Given the description of an element on the screen output the (x, y) to click on. 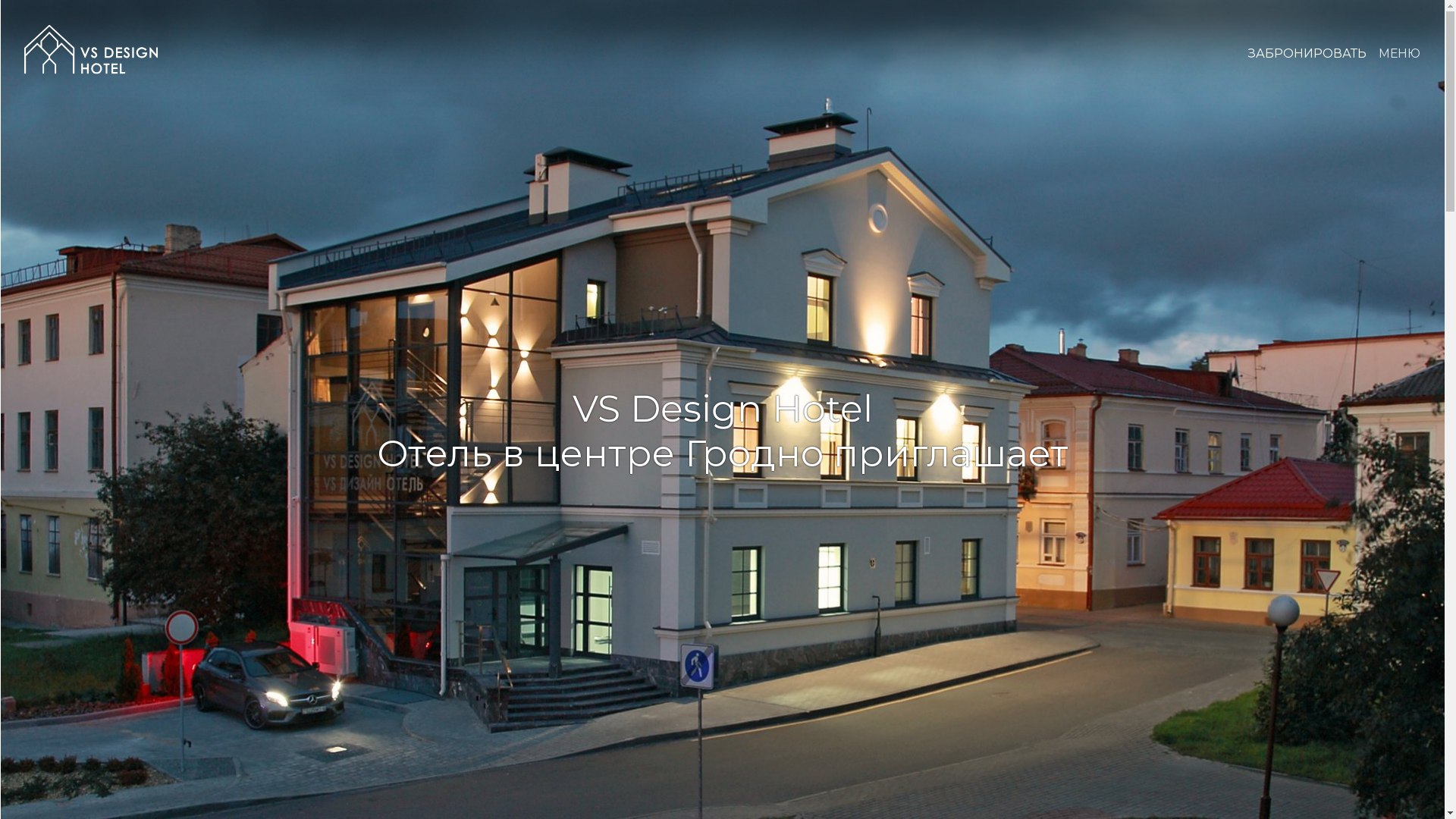
VS Design Hotel Element type: hover (90, 49)
